Given the description of an element on the screen output the (x, y) to click on. 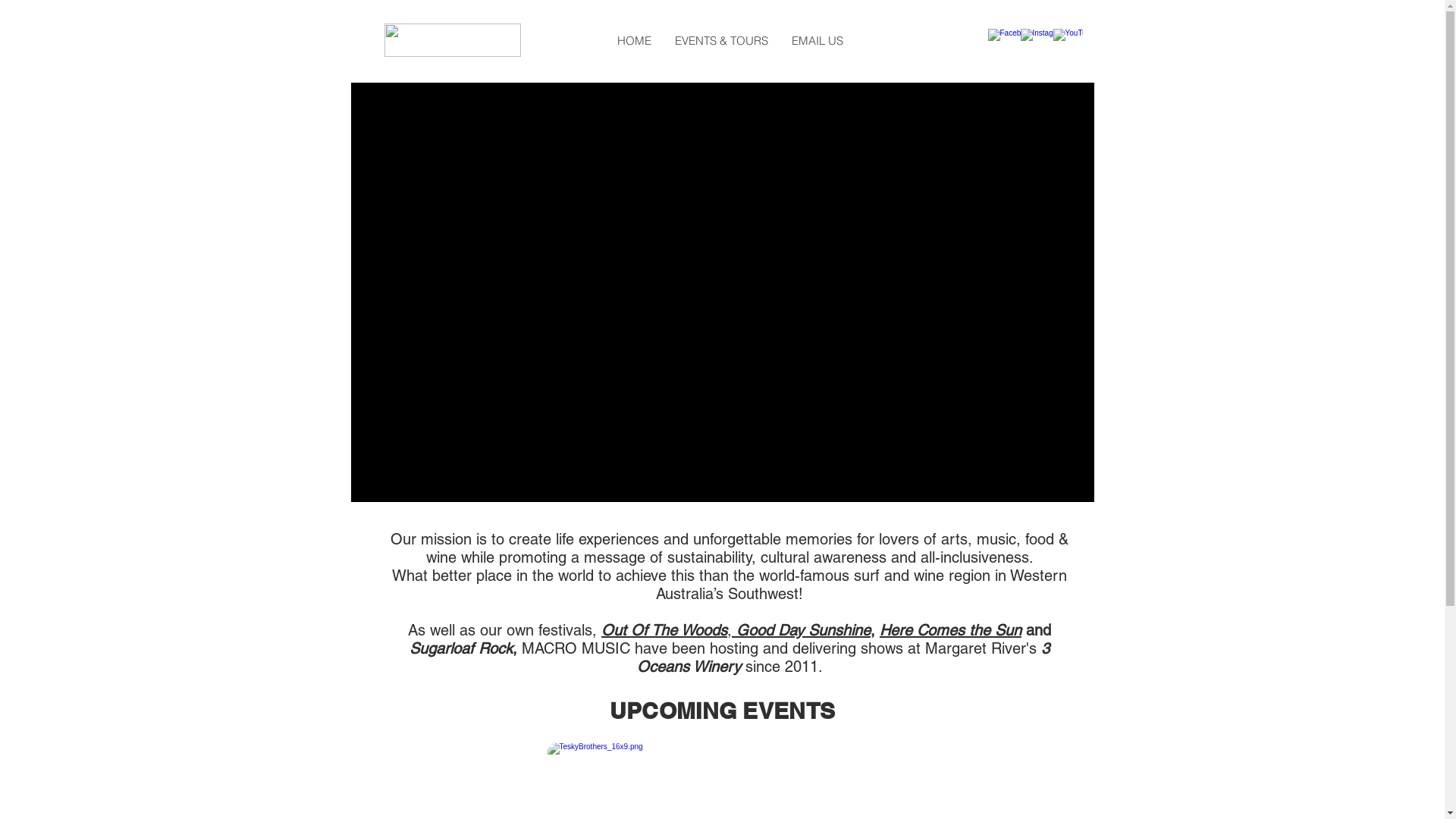
EVENTS & TOURS Element type: text (720, 40)
Out Of The Woods Element type: text (664, 630)
EMAIL US Element type: text (816, 40)
HOME Element type: text (633, 40)
Here Comes the Sun Element type: text (950, 630)
 Good Day Sunshine, Element type: text (803, 630)
macro logo.png Element type: hover (451, 39)
